Given the description of an element on the screen output the (x, y) to click on. 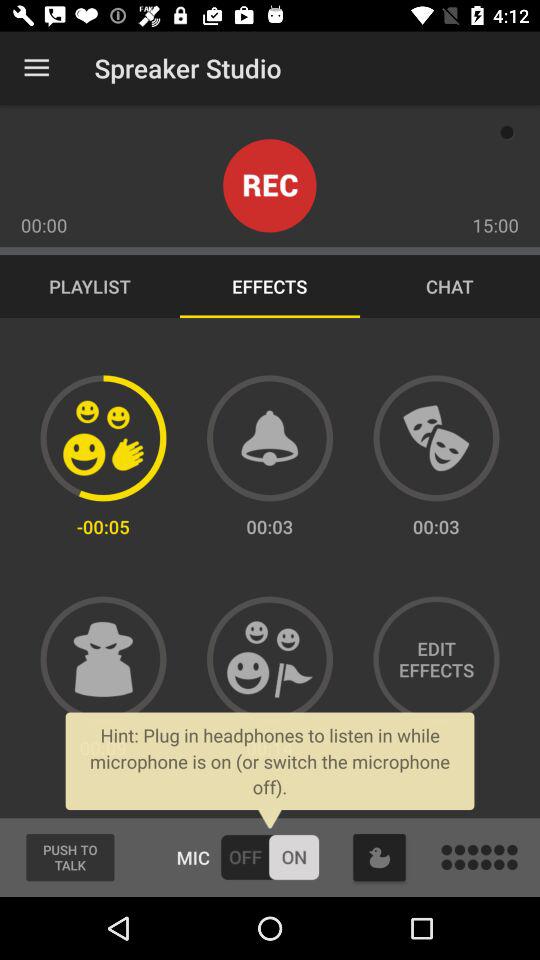
go incognito (103, 659)
